Given the description of an element on the screen output the (x, y) to click on. 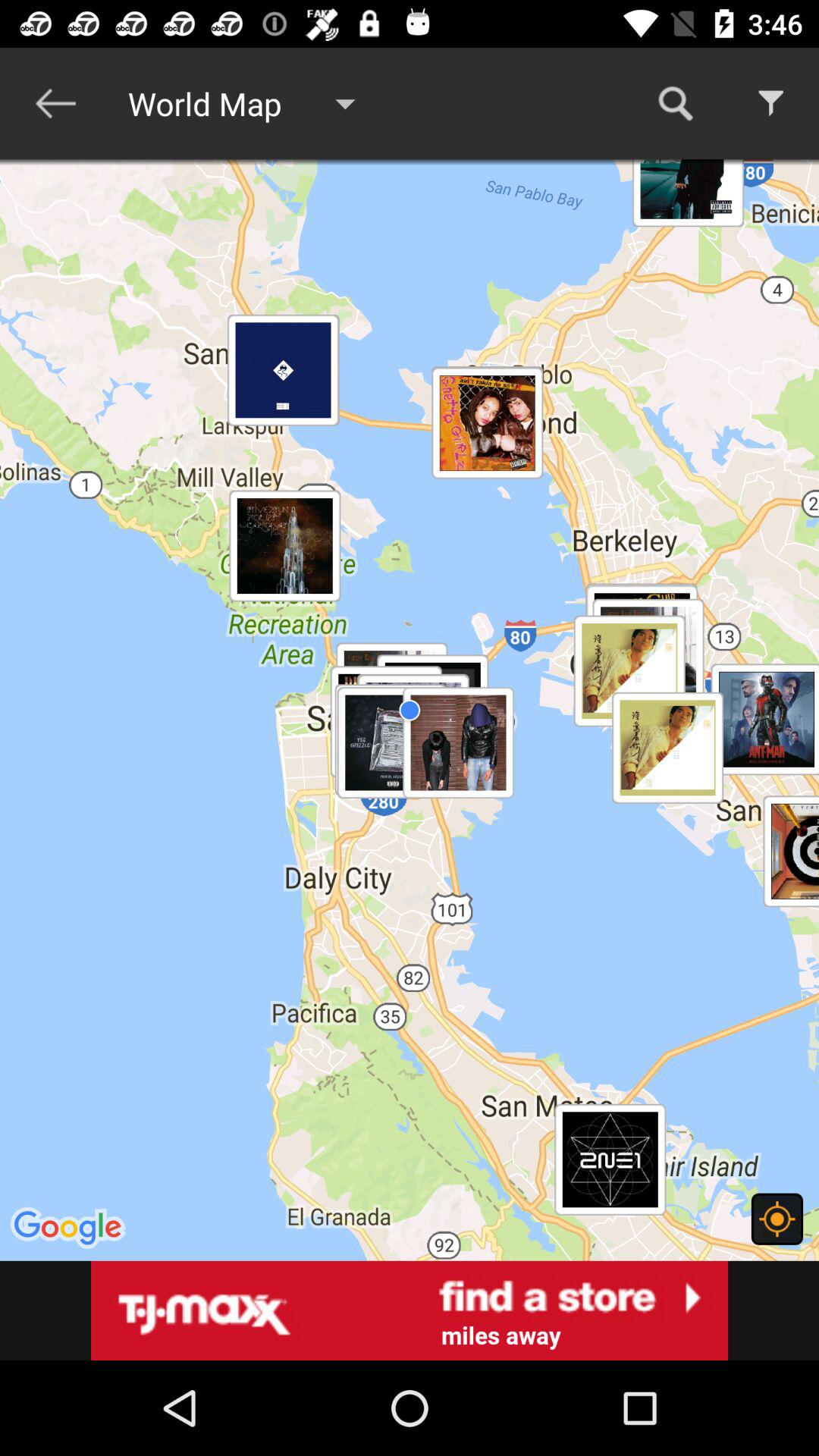
turn off the icon next to the world map icon (55, 103)
